Given the description of an element on the screen output the (x, y) to click on. 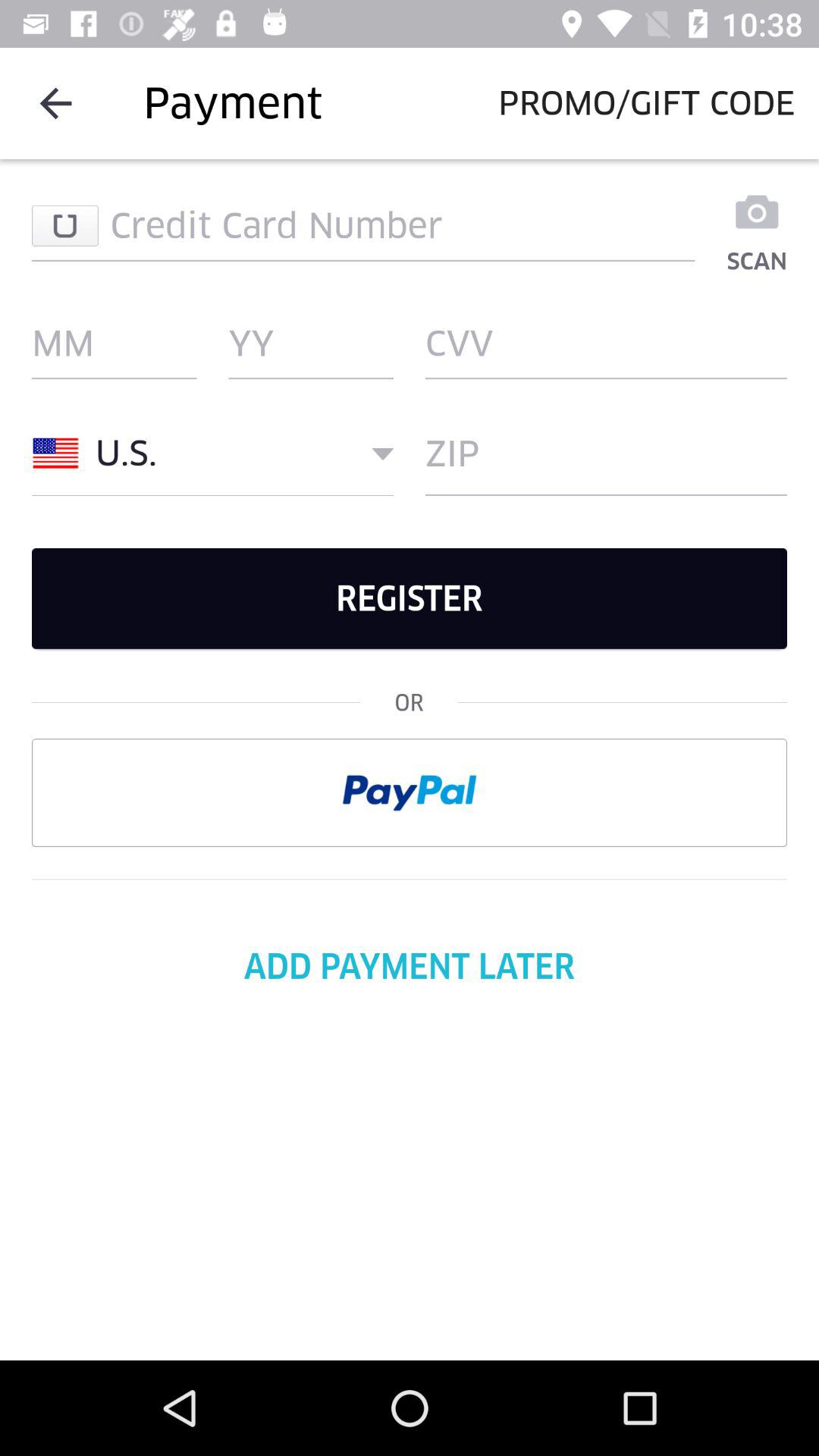
type the month (113, 343)
